Given the description of an element on the screen output the (x, y) to click on. 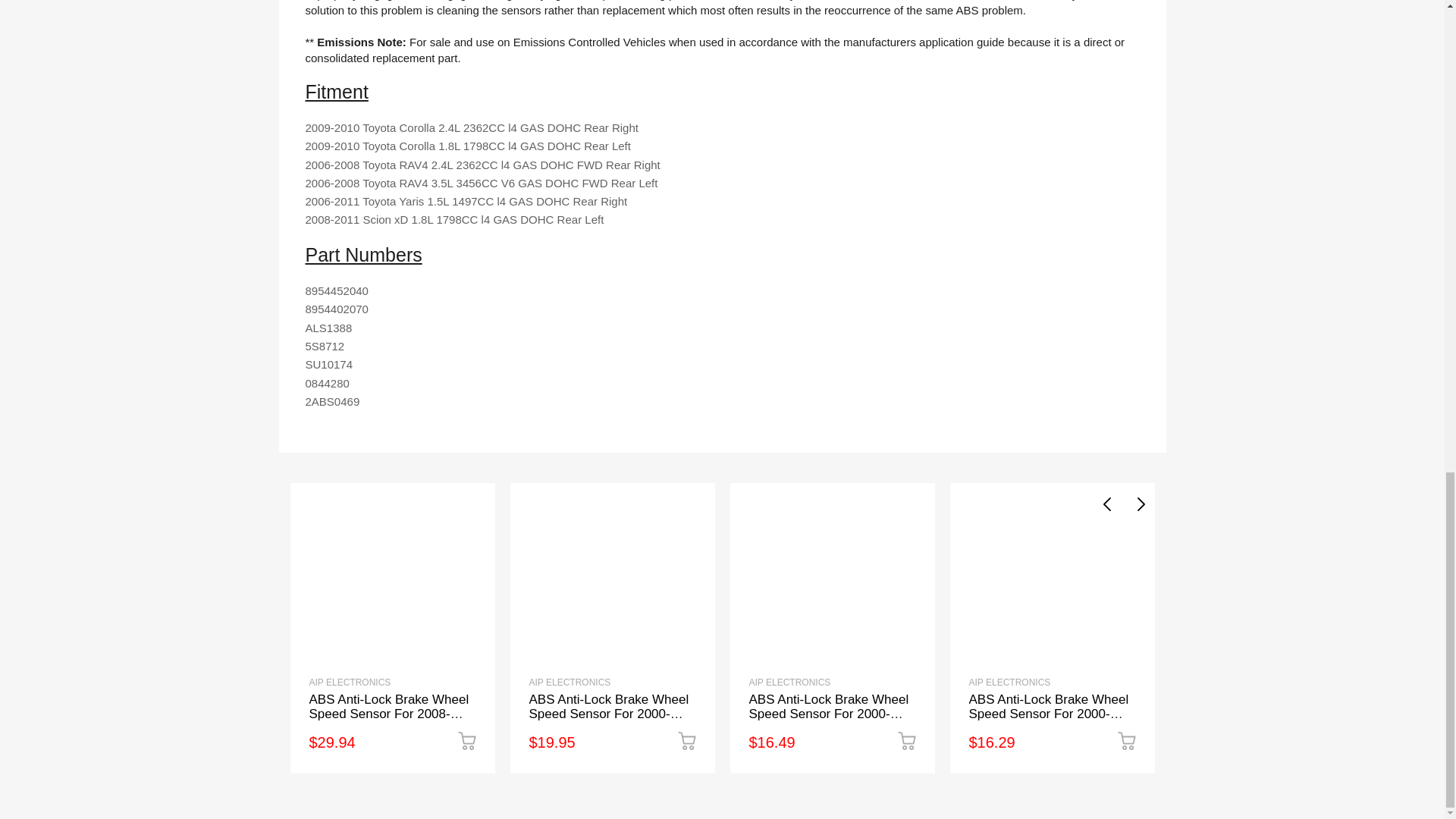
AIP ELECTRONICS (349, 682)
AIP ELECTRONICS (570, 682)
